Given the description of an element on the screen output the (x, y) to click on. 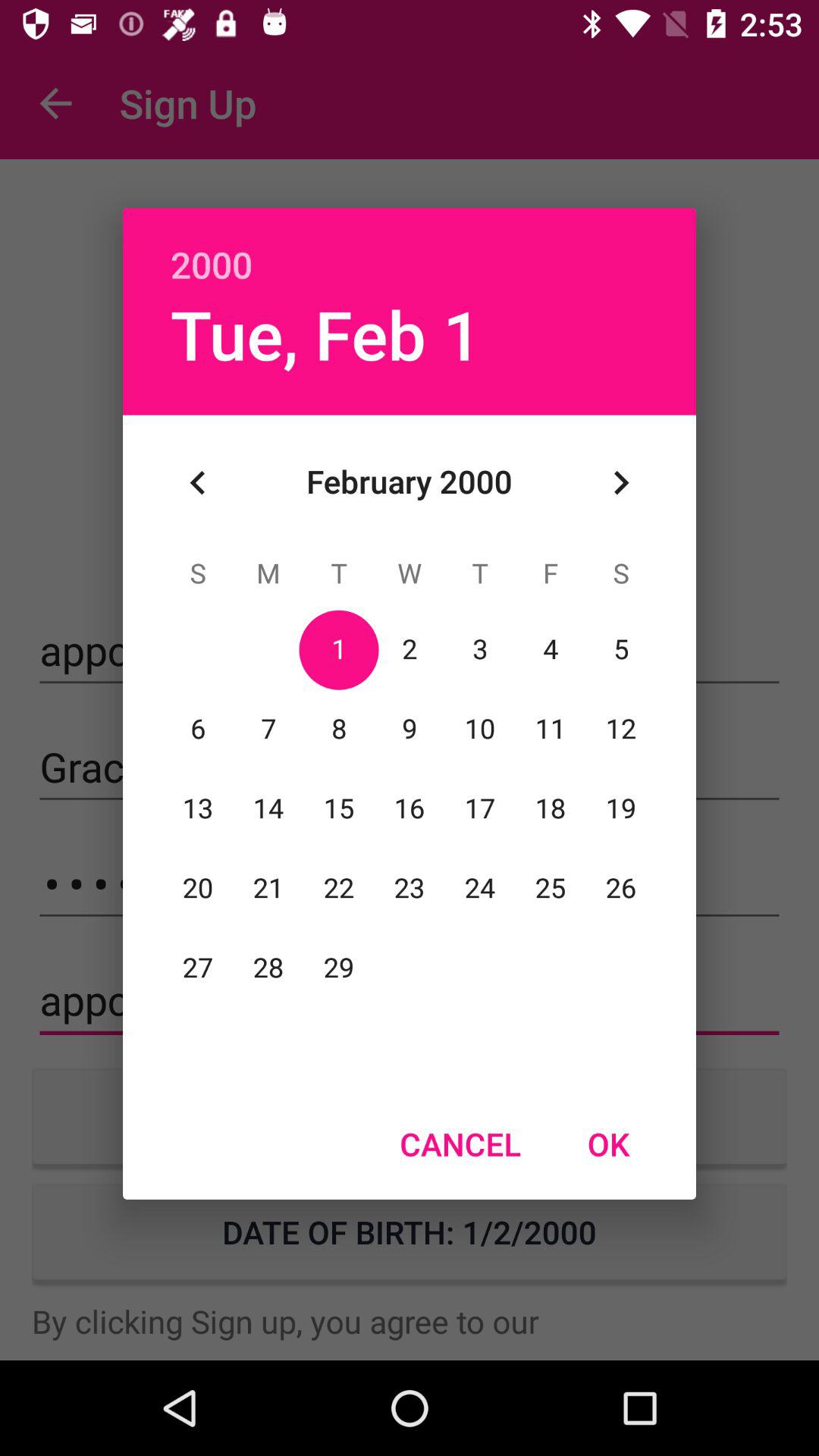
press the icon at the top left corner (197, 482)
